Given the description of an element on the screen output the (x, y) to click on. 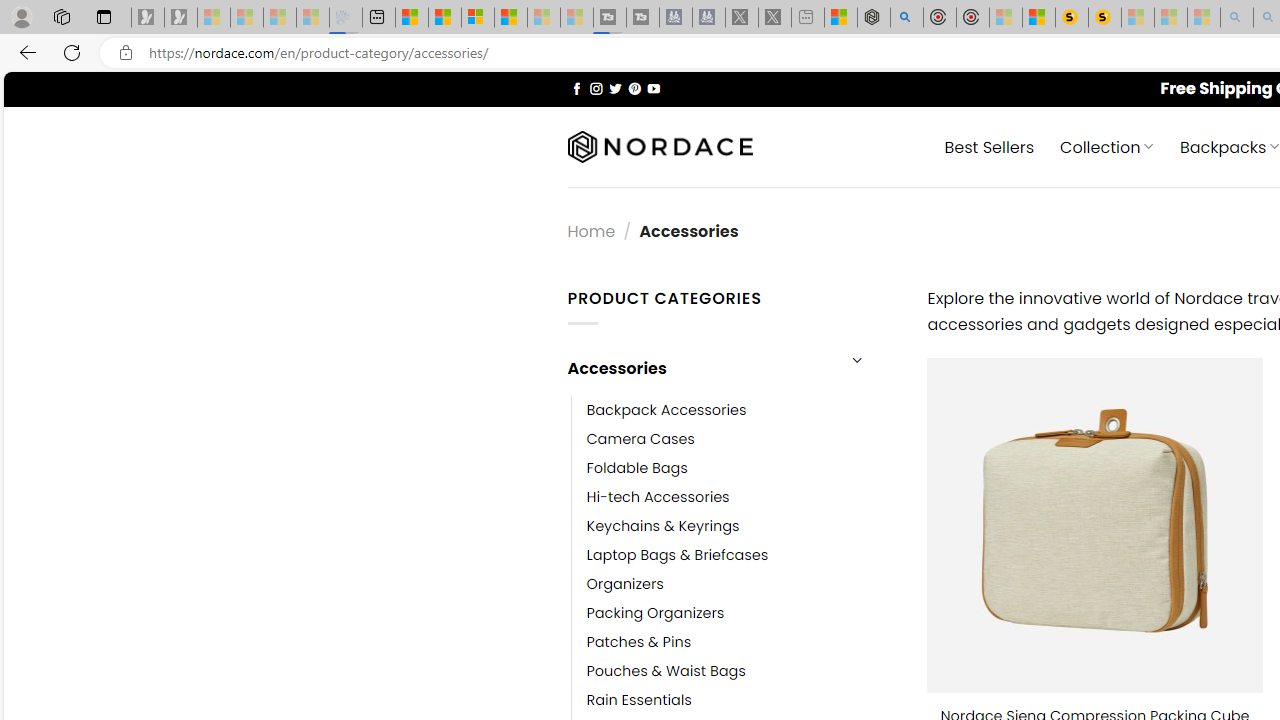
X - Sleeping (775, 17)
Laptop Bags & Briefcases (677, 555)
Pouches & Waist Bags (742, 671)
Follow on Instagram (596, 88)
Streaming Coverage | T3 - Sleeping (609, 17)
Hi-tech Accessories (657, 496)
Keychains & Keyrings (662, 526)
Overview (478, 17)
Patches & Pins (639, 642)
